Given the description of an element on the screen output the (x, y) to click on. 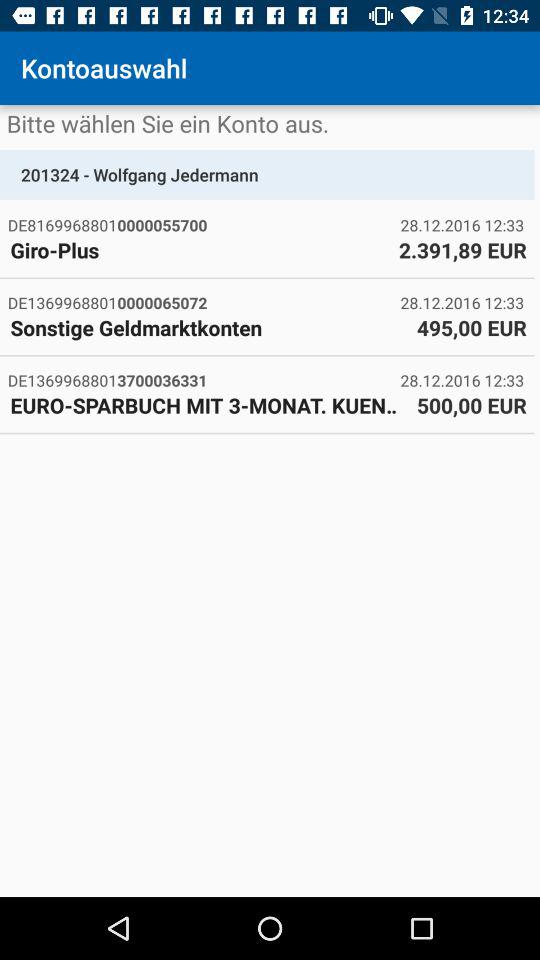
choose 201324 - wolfgang jedermann item (267, 174)
